Given the description of an element on the screen output the (x, y) to click on. 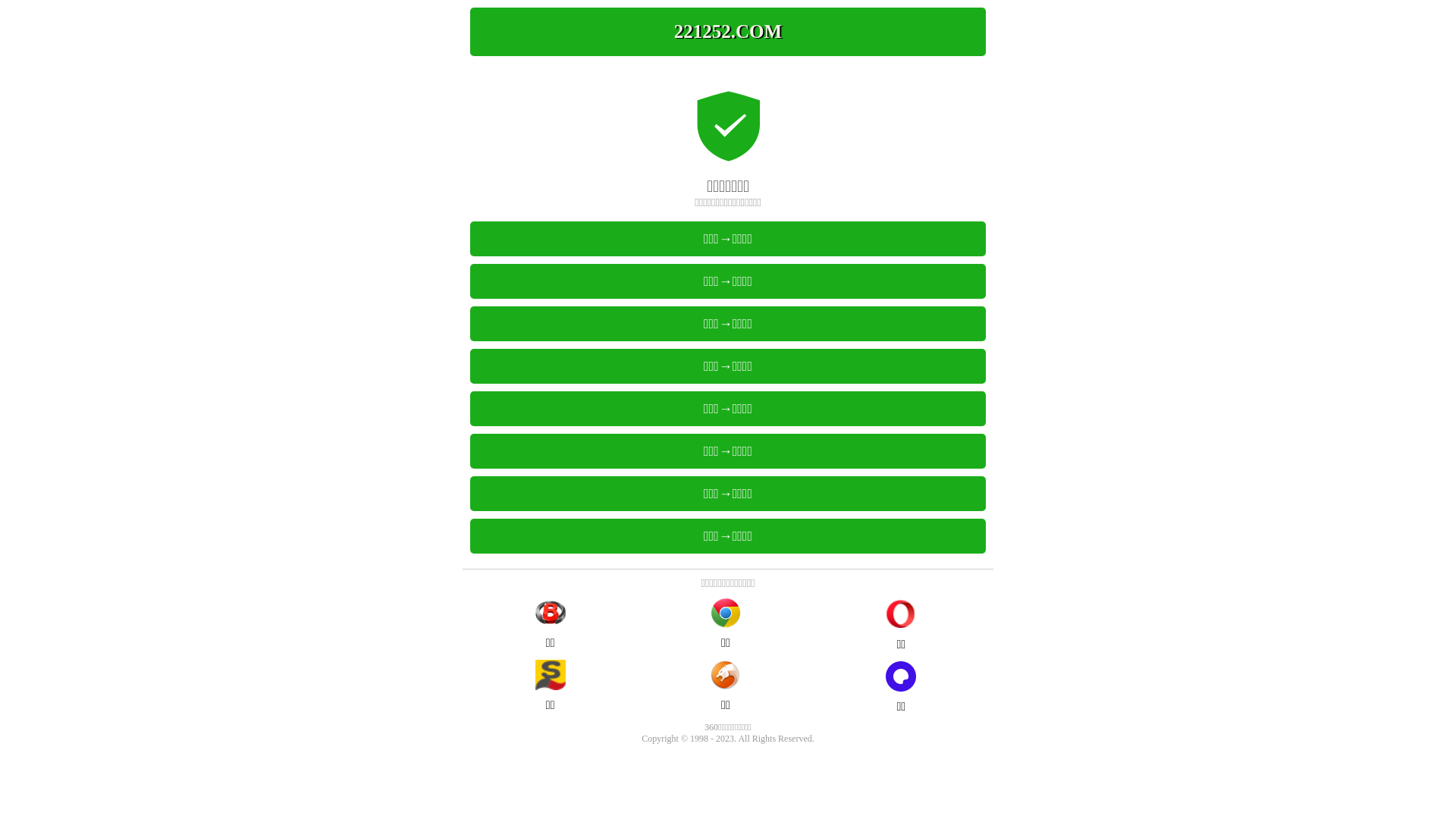
221252.COM Element type: text (727, 31)
